Given the description of an element on the screen output the (x, y) to click on. 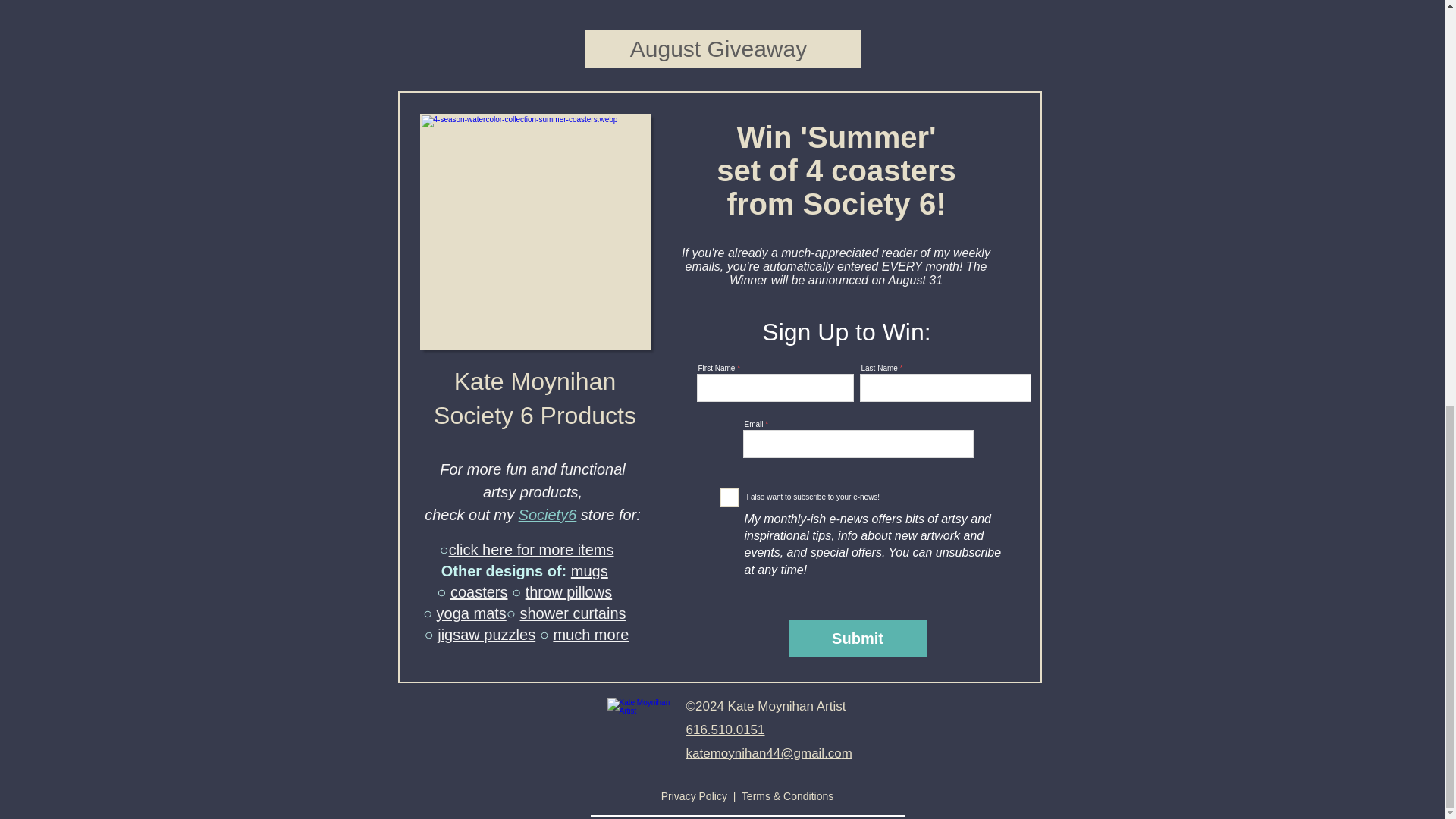
Society six bird coasters (535, 231)
shower curtains (572, 613)
mugs (589, 570)
Society6 (547, 514)
jigsaw puzzles (486, 634)
Kate Moynihan Artist (639, 730)
yoga mats (471, 613)
coasters (478, 591)
throw pillows (568, 591)
click here for more items (531, 549)
